Given the description of an element on the screen output the (x, y) to click on. 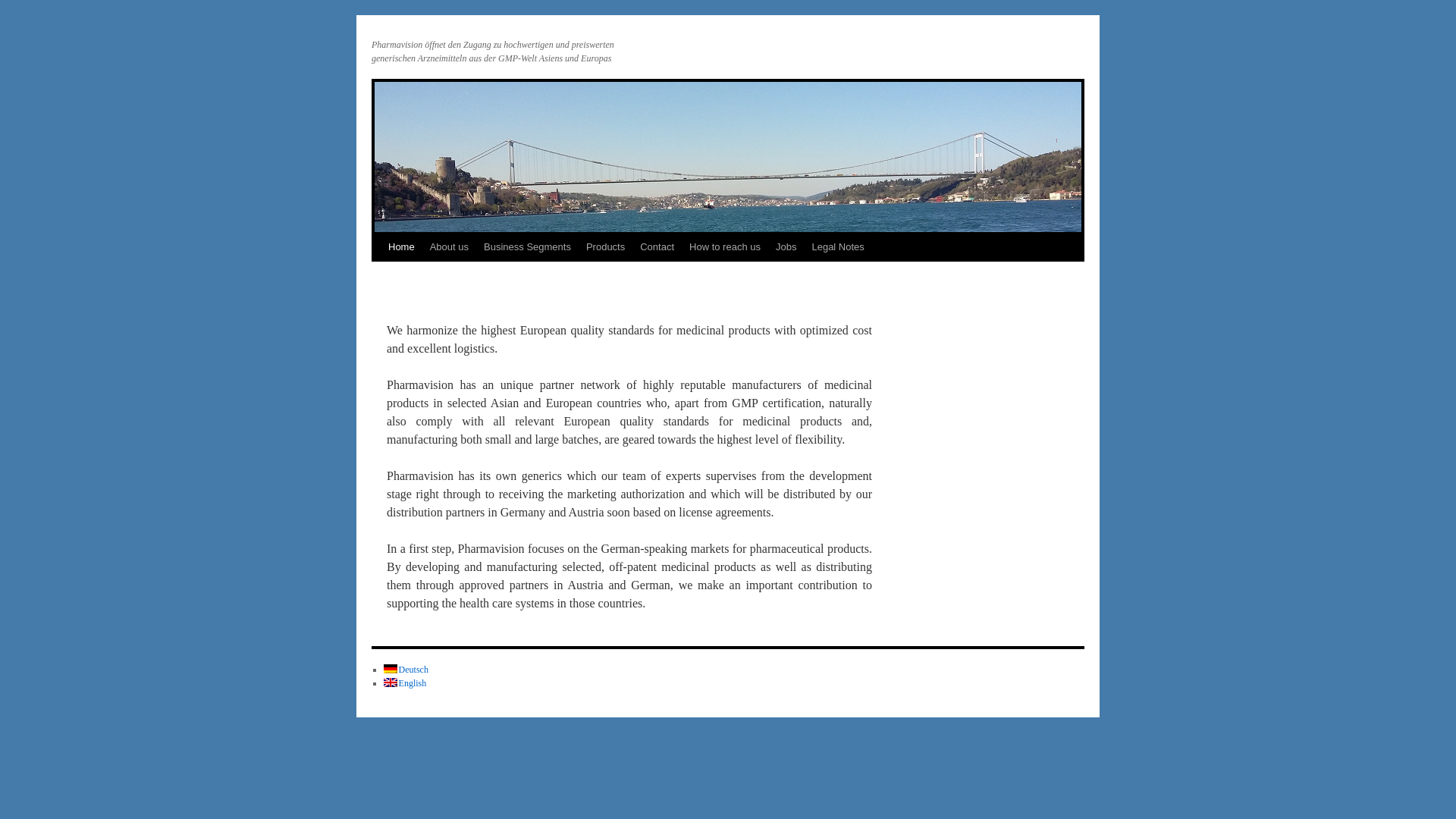
About us (449, 246)
How to reach us (724, 246)
Home (401, 246)
Legal Notes (836, 246)
English (405, 683)
Products (604, 246)
Business Segments (527, 246)
English (405, 683)
Deutsch (406, 669)
Jobs (785, 246)
